Given the description of an element on the screen output the (x, y) to click on. 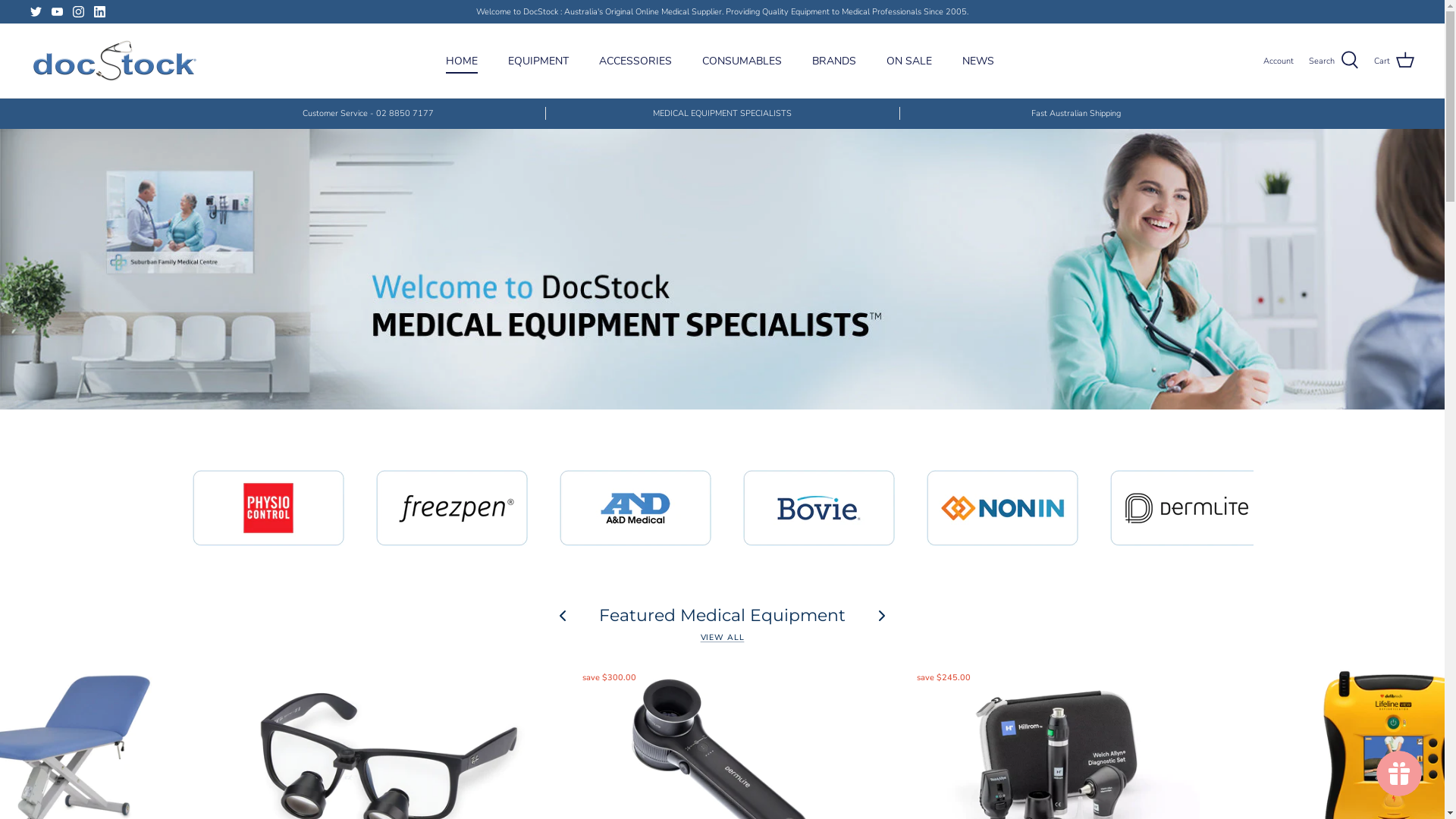
NEXT Element type: text (1241, 526)
Featured Medical Equipment Element type: text (722, 615)
EQUIPMENT Element type: text (538, 60)
ACCESSORIES Element type: text (635, 60)
Cart Element type: text (1394, 60)
ON SALE Element type: text (908, 60)
Instagram Element type: text (78, 11)
VIEW ALL Element type: text (722, 637)
BRANDS Element type: text (833, 60)
Account Element type: text (1278, 61)
Search Element type: text (1333, 60)
PREVIOUS Element type: text (202, 526)
HOME Element type: text (461, 60)
DocStock Element type: hover (113, 60)
CONSUMABLES Element type: text (741, 60)
NEWS Element type: text (977, 60)
Smile.io Rewards Program Launcher Element type: hover (1398, 773)
Youtube Element type: text (56, 11)
Twitter Element type: text (35, 11)
